Given the description of an element on the screen output the (x, y) to click on. 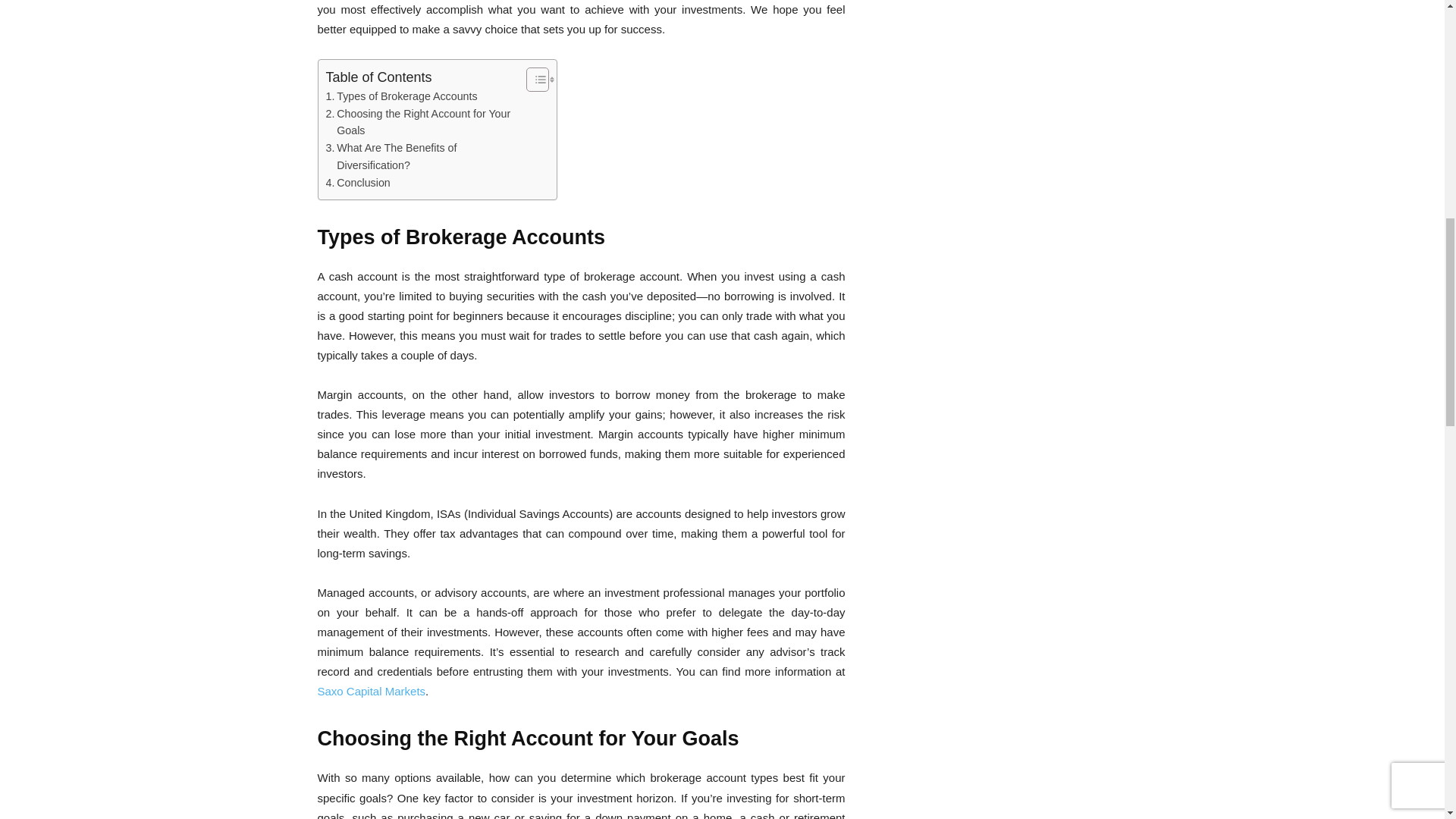
Conclusion (358, 182)
Types of Brokerage Accounts (401, 96)
What Are The Benefits of Diversification? (422, 156)
Types of Brokerage Accounts (401, 96)
Conclusion (358, 182)
Choosing the Right Account for Your Goals (422, 122)
What Are The Benefits of Diversification? (422, 156)
Saxo Capital Markets (371, 690)
Choosing the Right Account for Your Goals (422, 122)
